Given the description of an element on the screen output the (x, y) to click on. 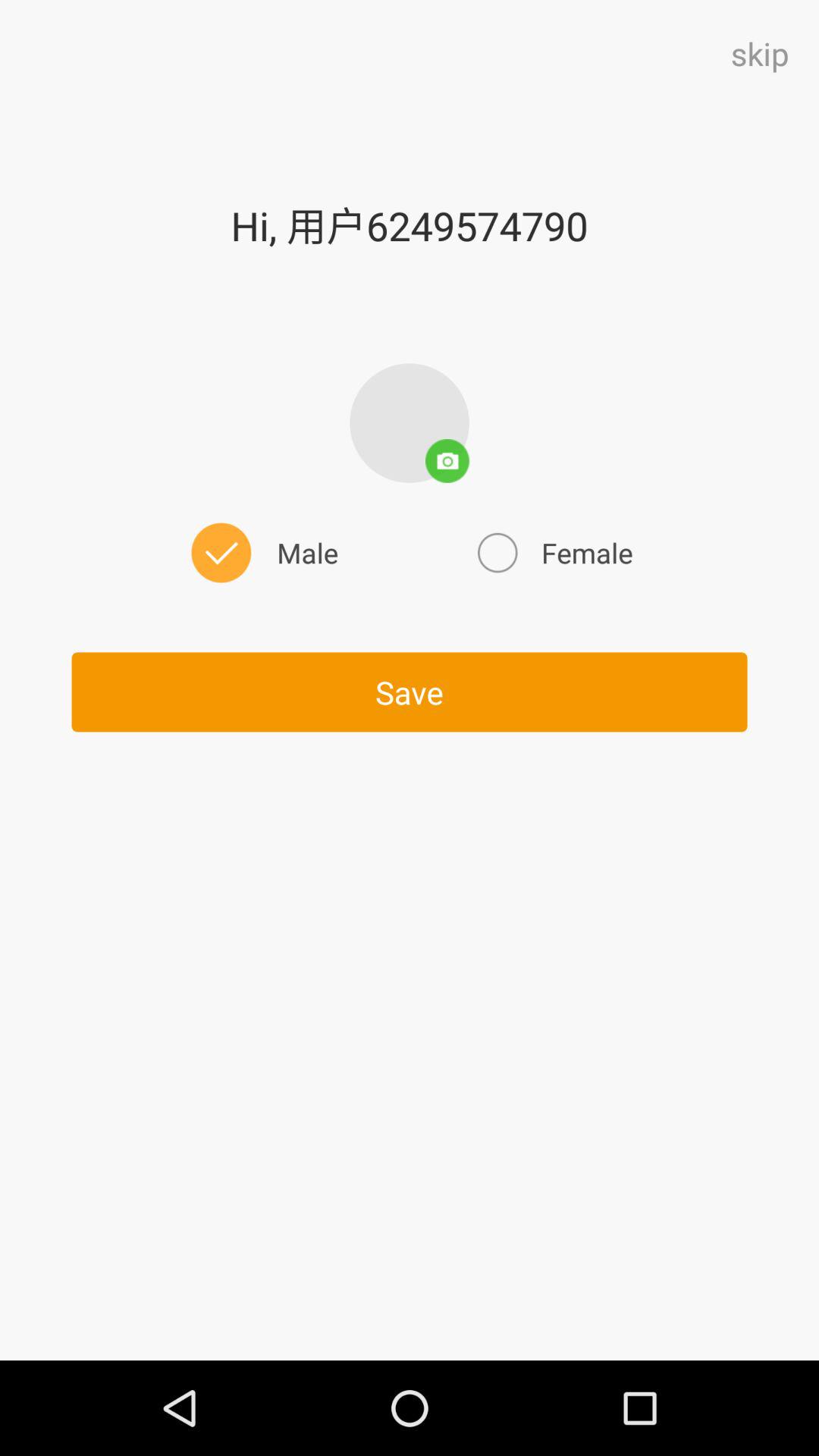
jump to male (261, 552)
